Given the description of an element on the screen output the (x, y) to click on. 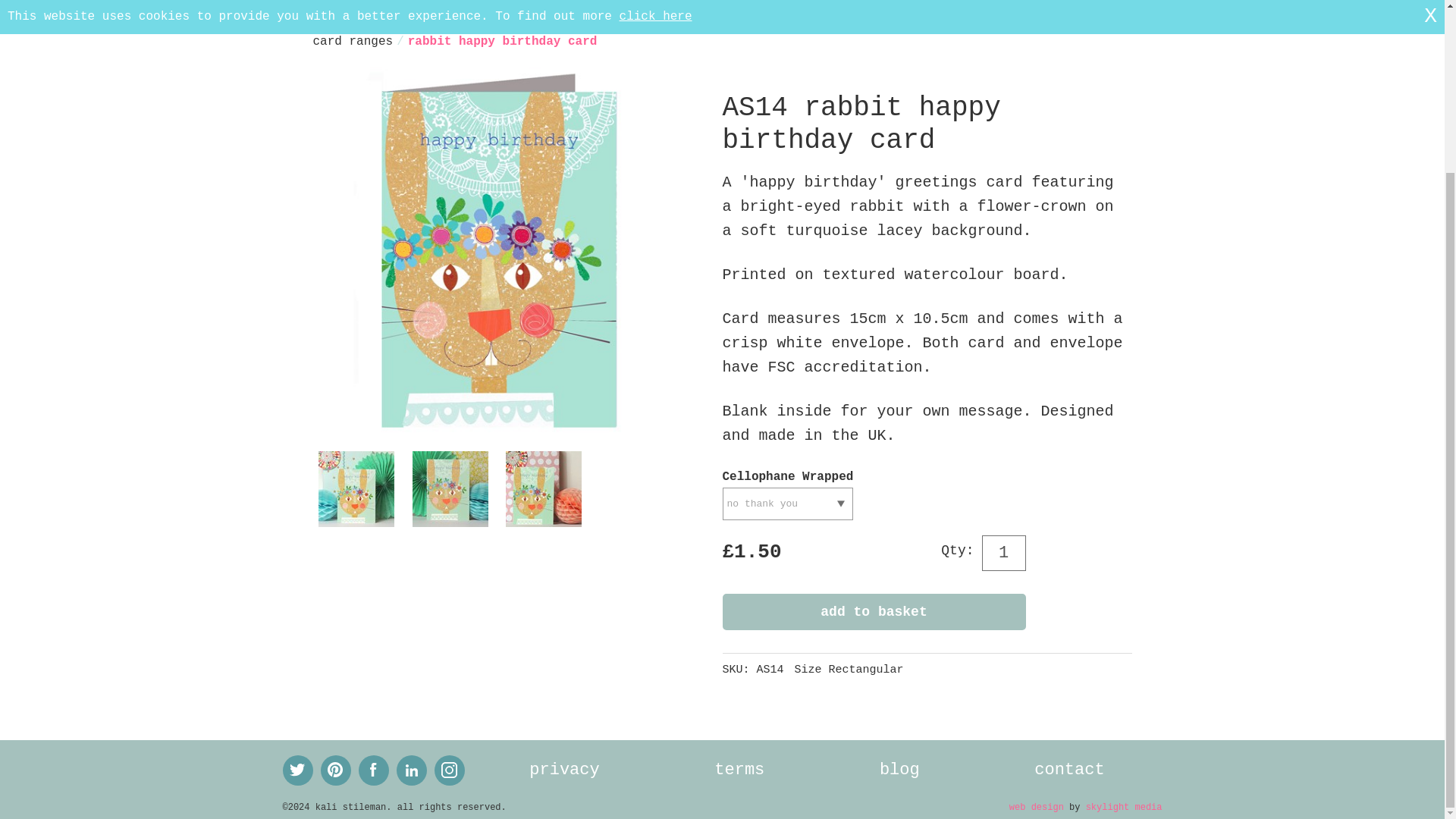
1 (1003, 552)
